Given the description of an element on the screen output the (x, y) to click on. 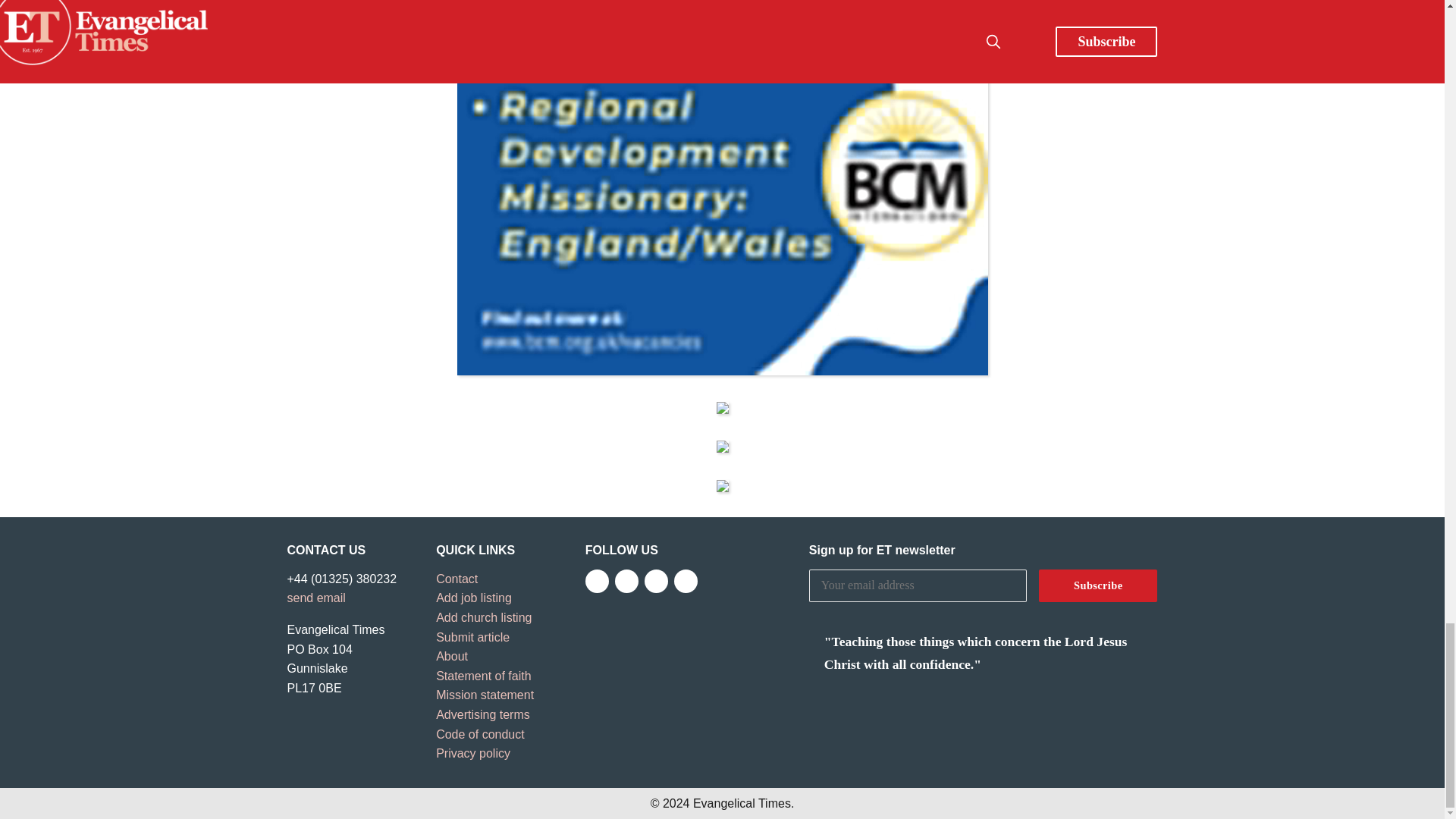
Linkedin (685, 580)
Twitter (626, 580)
Instagram (656, 580)
Facebook (596, 580)
